Given the description of an element on the screen output the (x, y) to click on. 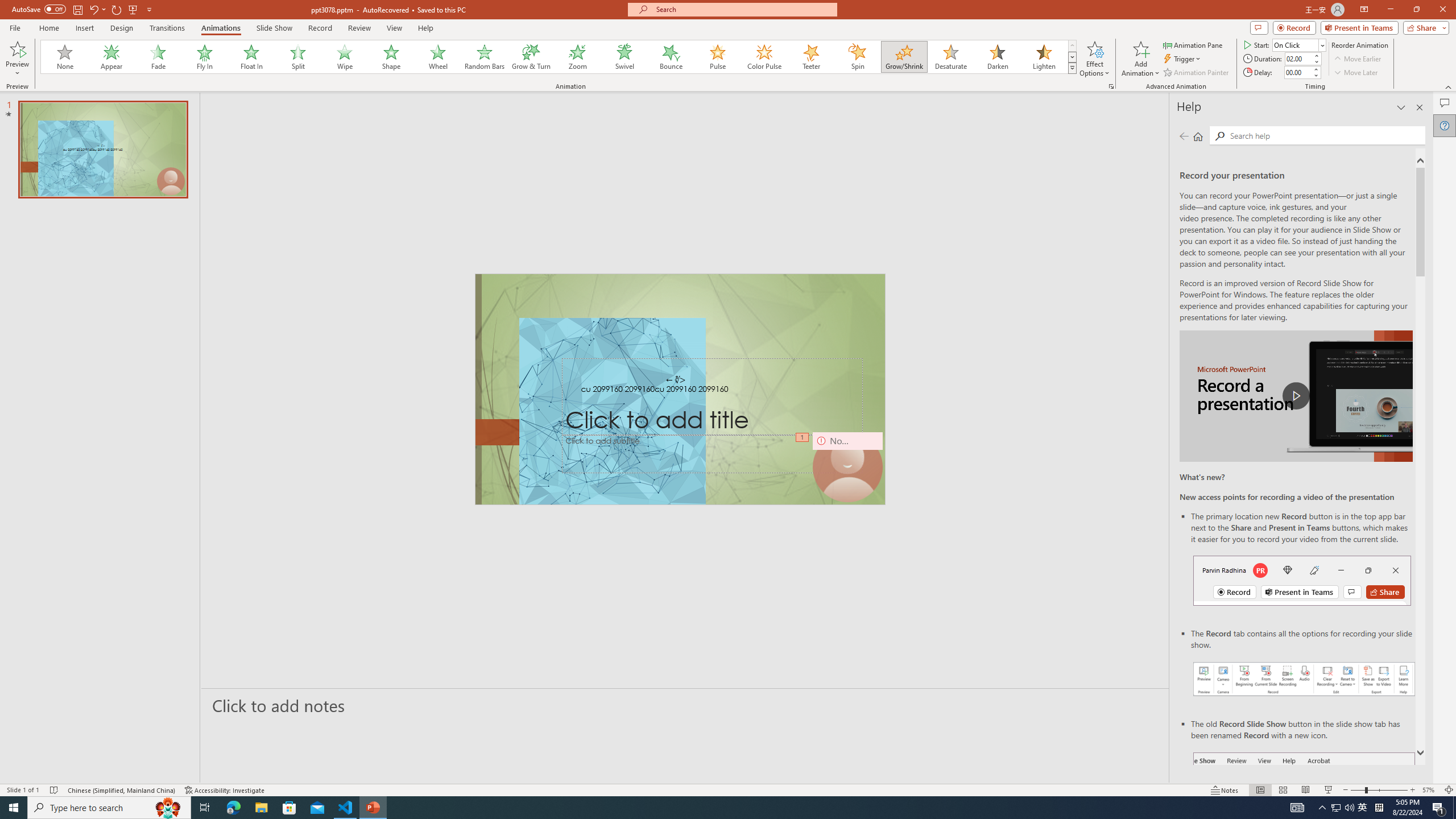
AutomationID: AnimationGallery (558, 56)
Spin (857, 56)
Split (298, 56)
Animation Pane (1193, 44)
None (65, 56)
Grow/Shrink (903, 56)
